Given the description of an element on the screen output the (x, y) to click on. 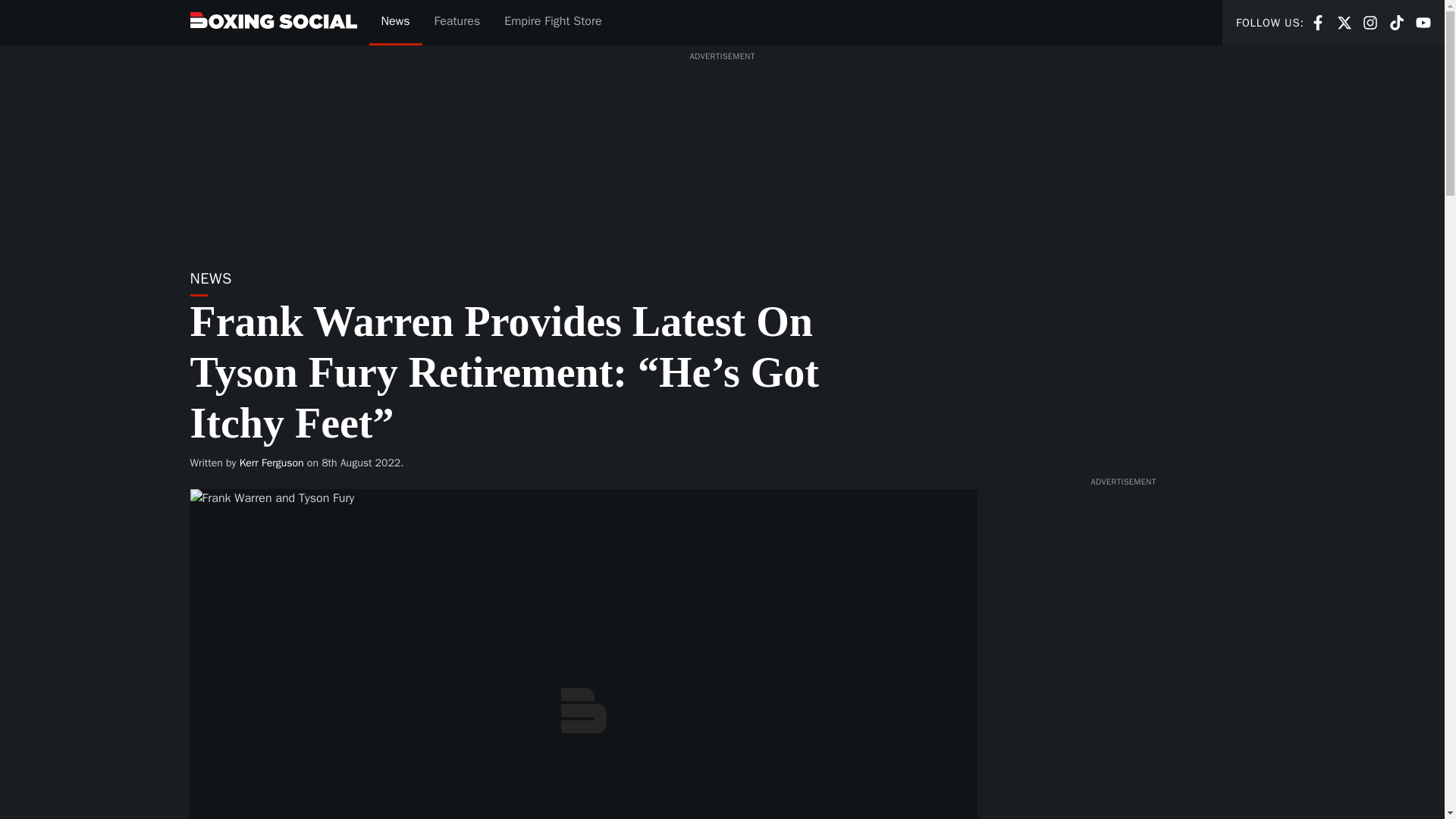
Empire Fight Store (552, 22)
YOUTUBE (1369, 21)
News (1423, 21)
Features (1423, 22)
Skip to main content (395, 22)
X (457, 22)
TIKTOK (1344, 21)
Kerr Ferguson (1317, 21)
INSTAGRAM (1344, 22)
